Given the description of an element on the screen output the (x, y) to click on. 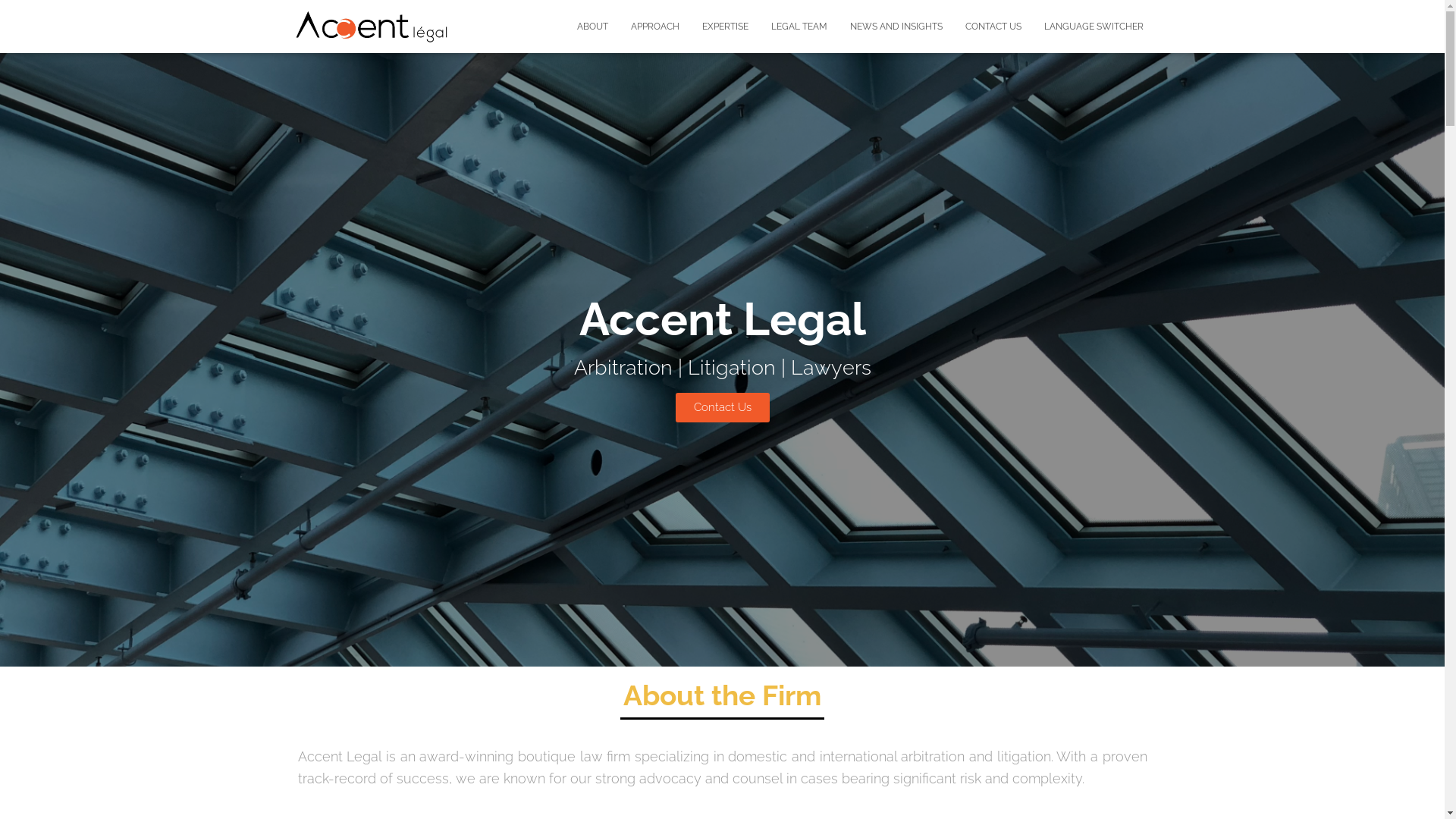
NEWS AND INSIGHTS Element type: text (895, 26)
LANGUAGE SWITCHER Element type: text (1093, 26)
ABOUT Element type: text (592, 26)
CONTACT US Element type: text (992, 26)
APPROACH Element type: text (654, 26)
Contact Us Element type: text (721, 407)
EXPERTISE Element type: text (724, 26)
LEGAL TEAM Element type: text (798, 26)
Accent Legal Element type: hover (371, 26)
